Given the description of an element on the screen output the (x, y) to click on. 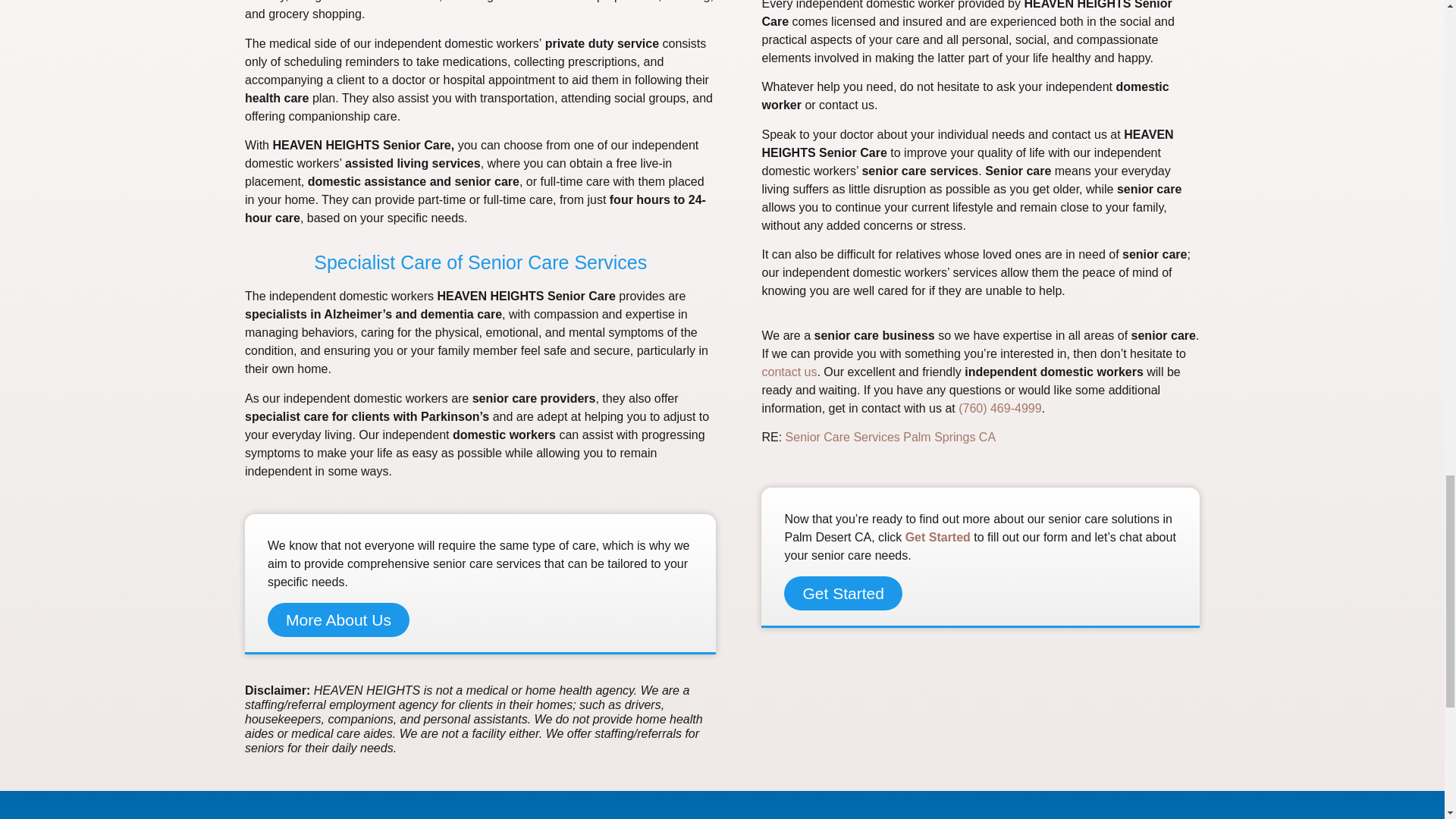
More About Us (338, 619)
Get Started (938, 536)
Senior Care Services Carlsbad CA (890, 436)
Get Started (842, 593)
contact us (788, 371)
Senior Care Services Palm Springs CA (890, 436)
